Given the description of an element on the screen output the (x, y) to click on. 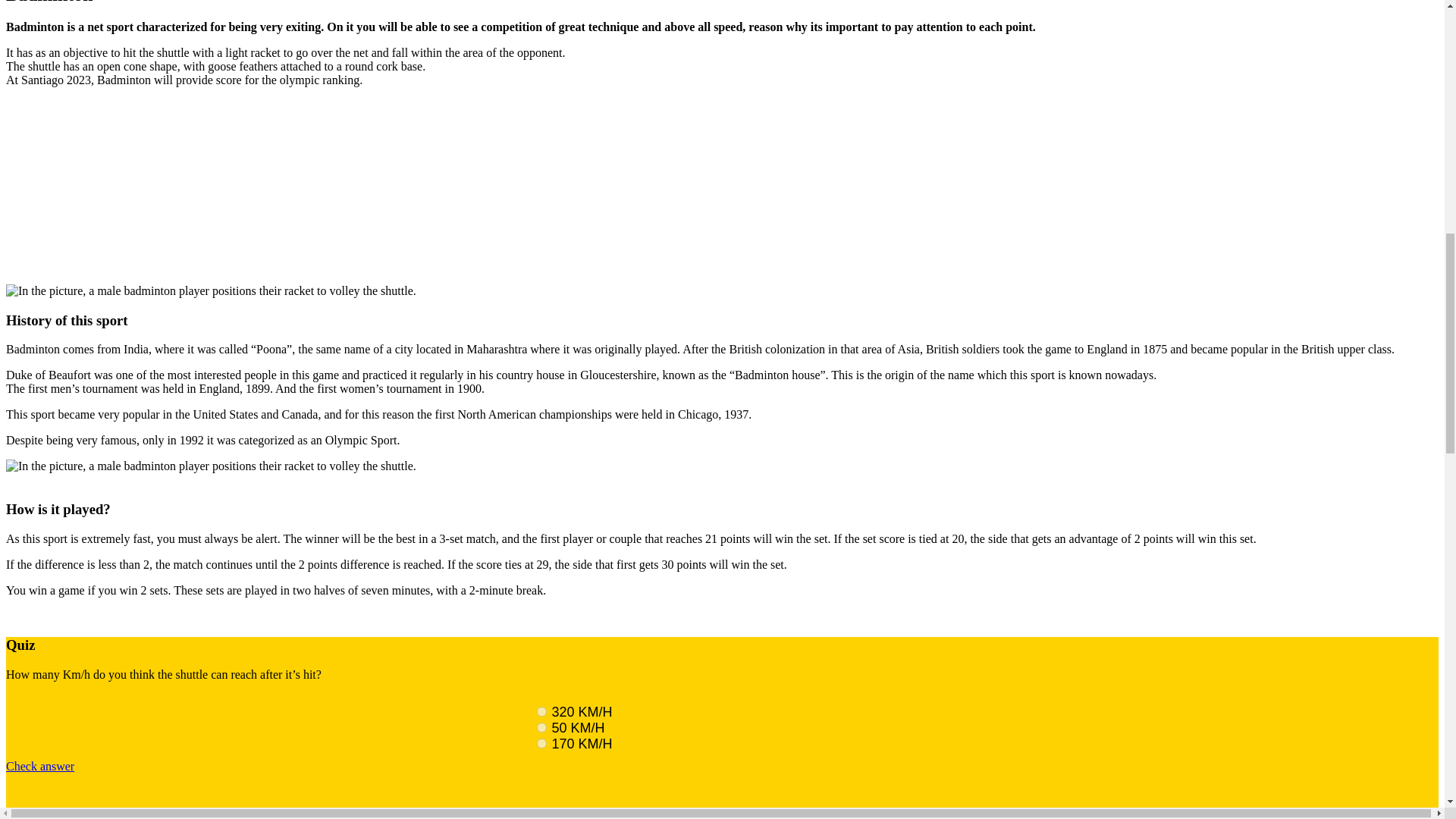
option2 (542, 727)
option1 (542, 711)
option3 (542, 743)
